Given the description of an element on the screen output the (x, y) to click on. 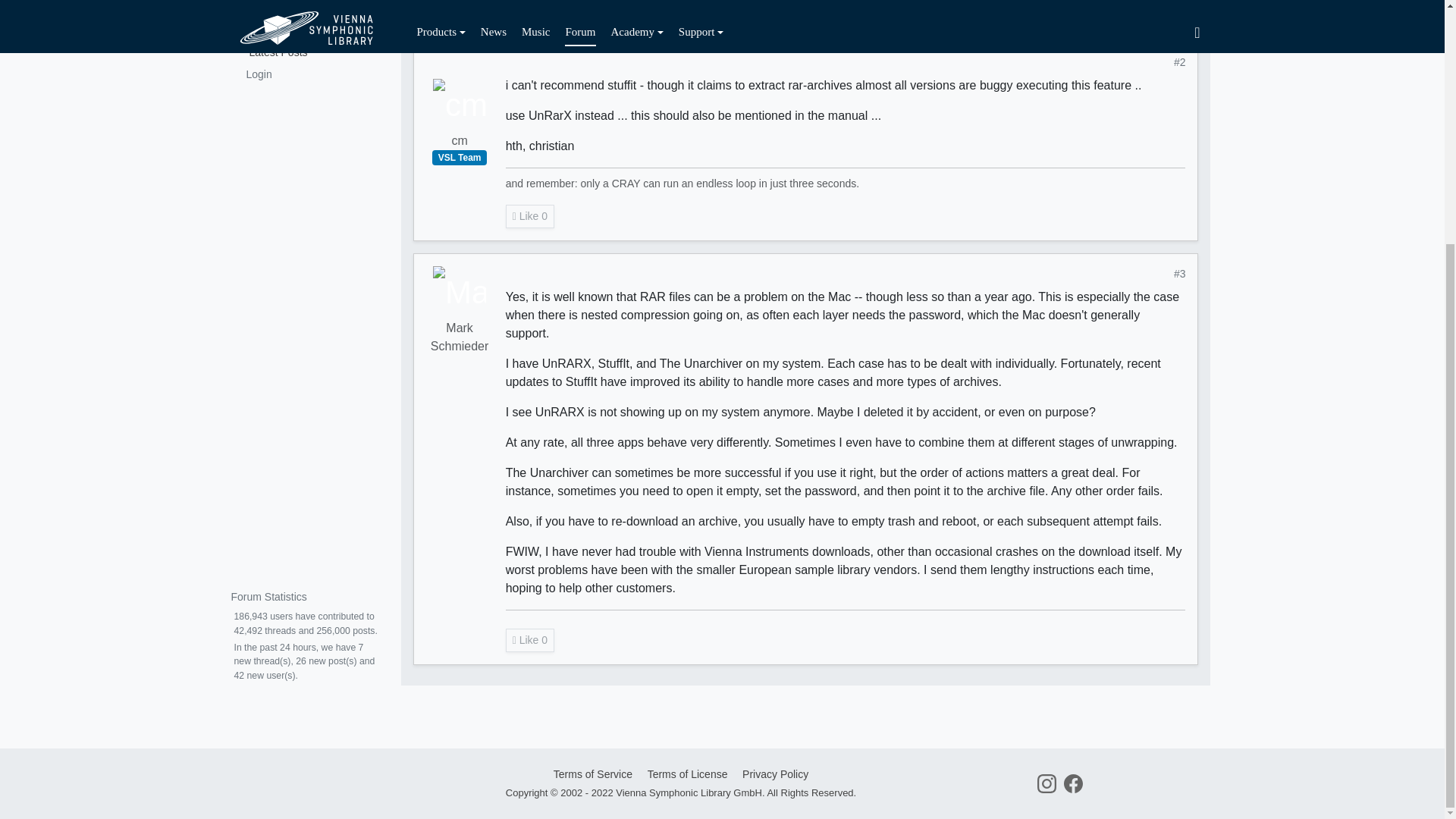
cm (459, 80)
